Given the description of an element on the screen output the (x, y) to click on. 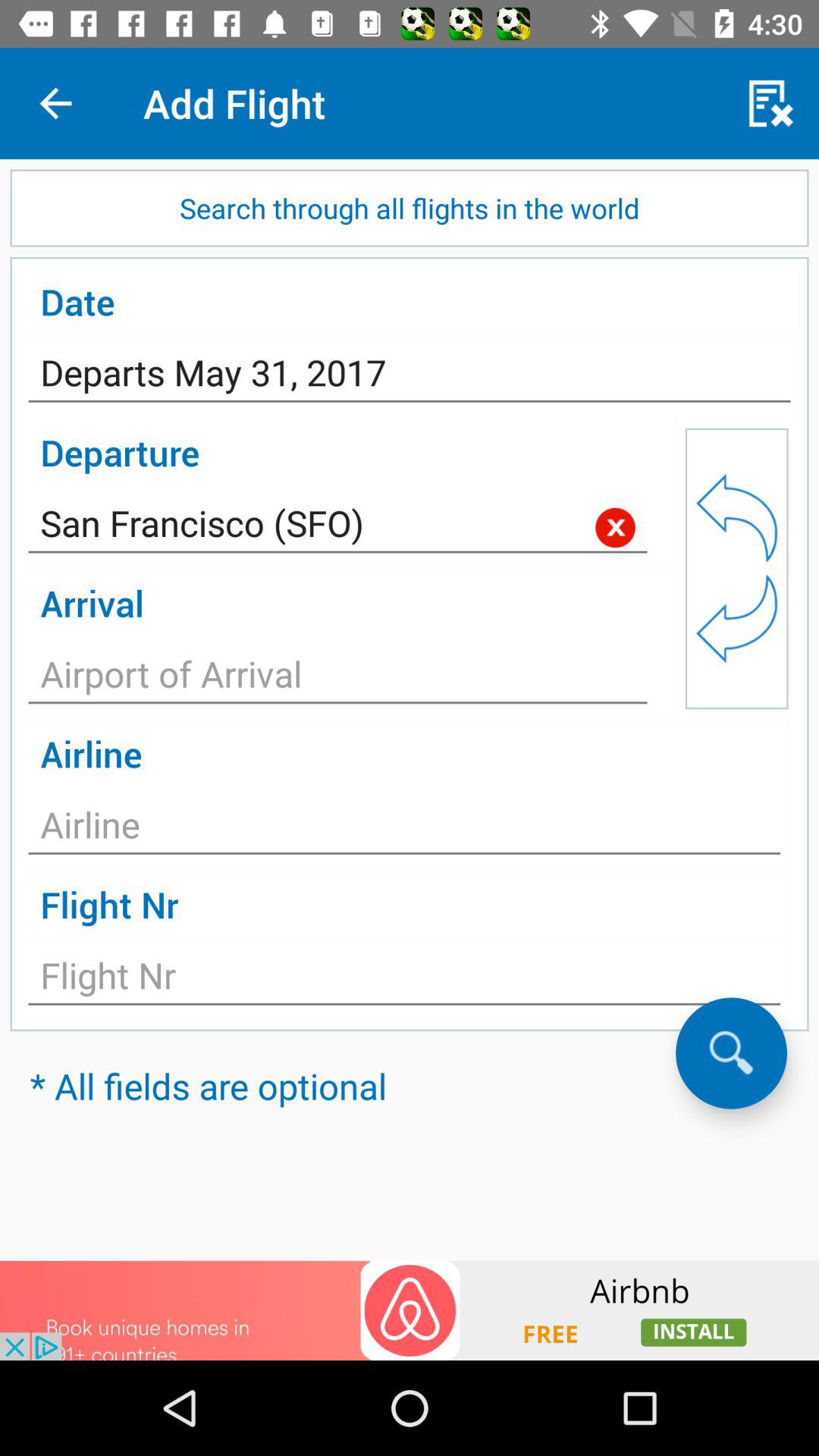
arrival option (337, 678)
